Given the description of an element on the screen output the (x, y) to click on. 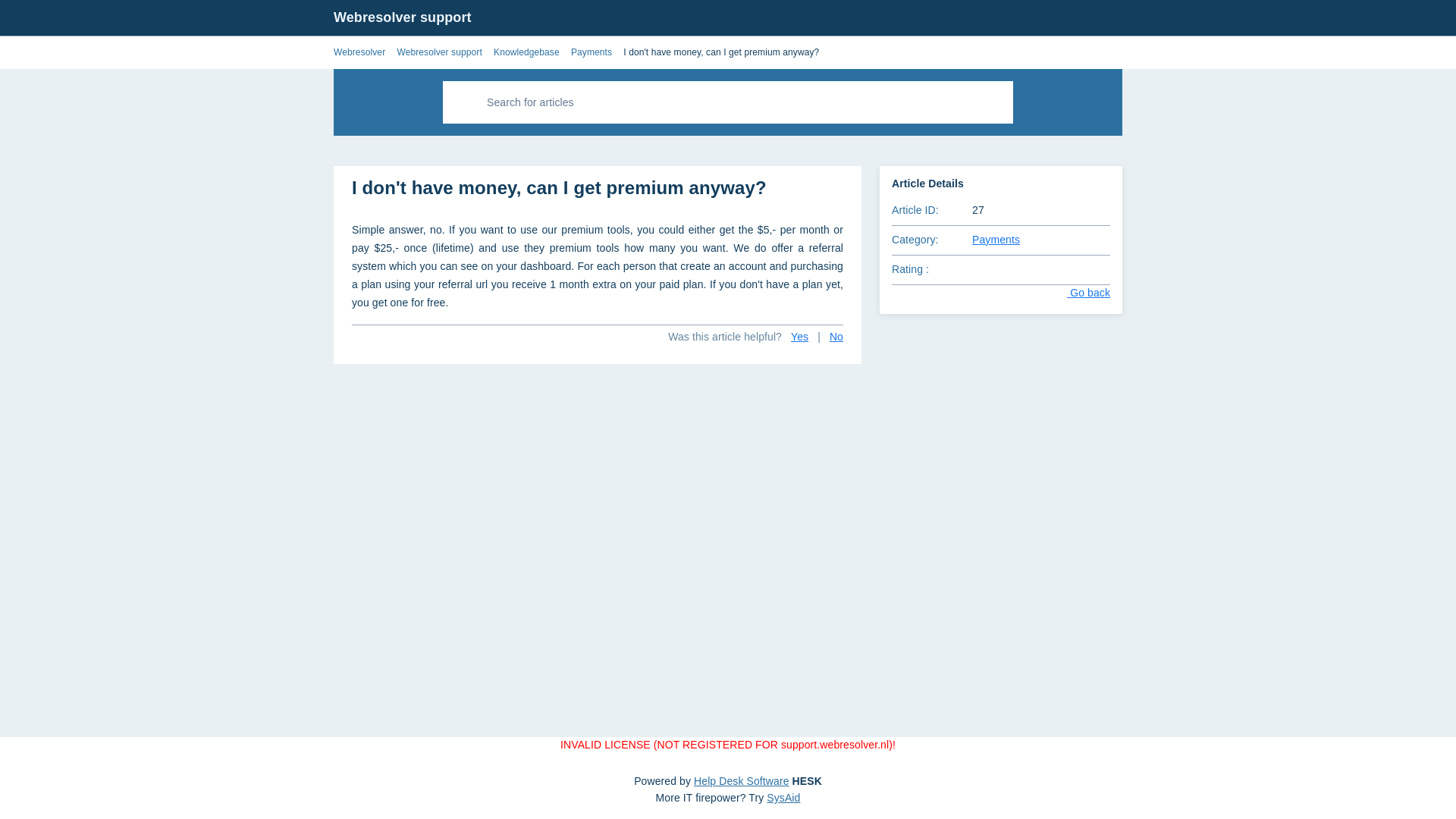
Payments (996, 239)
Go back (1076, 292)
Webresolver (359, 51)
Knowledgebase (526, 51)
SysAid (783, 797)
Help Desk Software (741, 780)
Payments (590, 51)
Webresolver support (438, 51)
Webresolver support (402, 17)
Yes (799, 337)
